Given the description of an element on the screen output the (x, y) to click on. 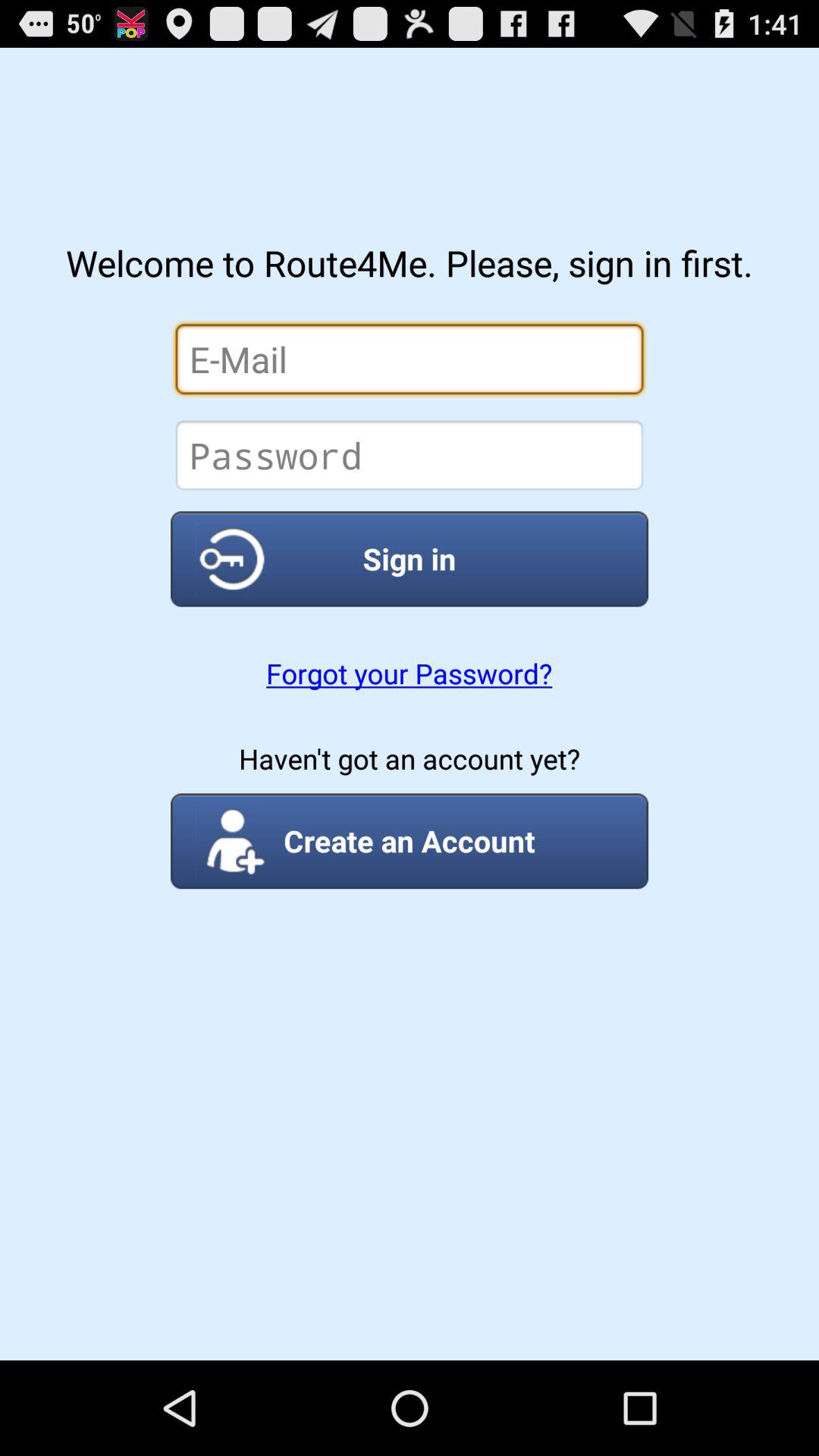
insert password (409, 455)
